Given the description of an element on the screen output the (x, y) to click on. 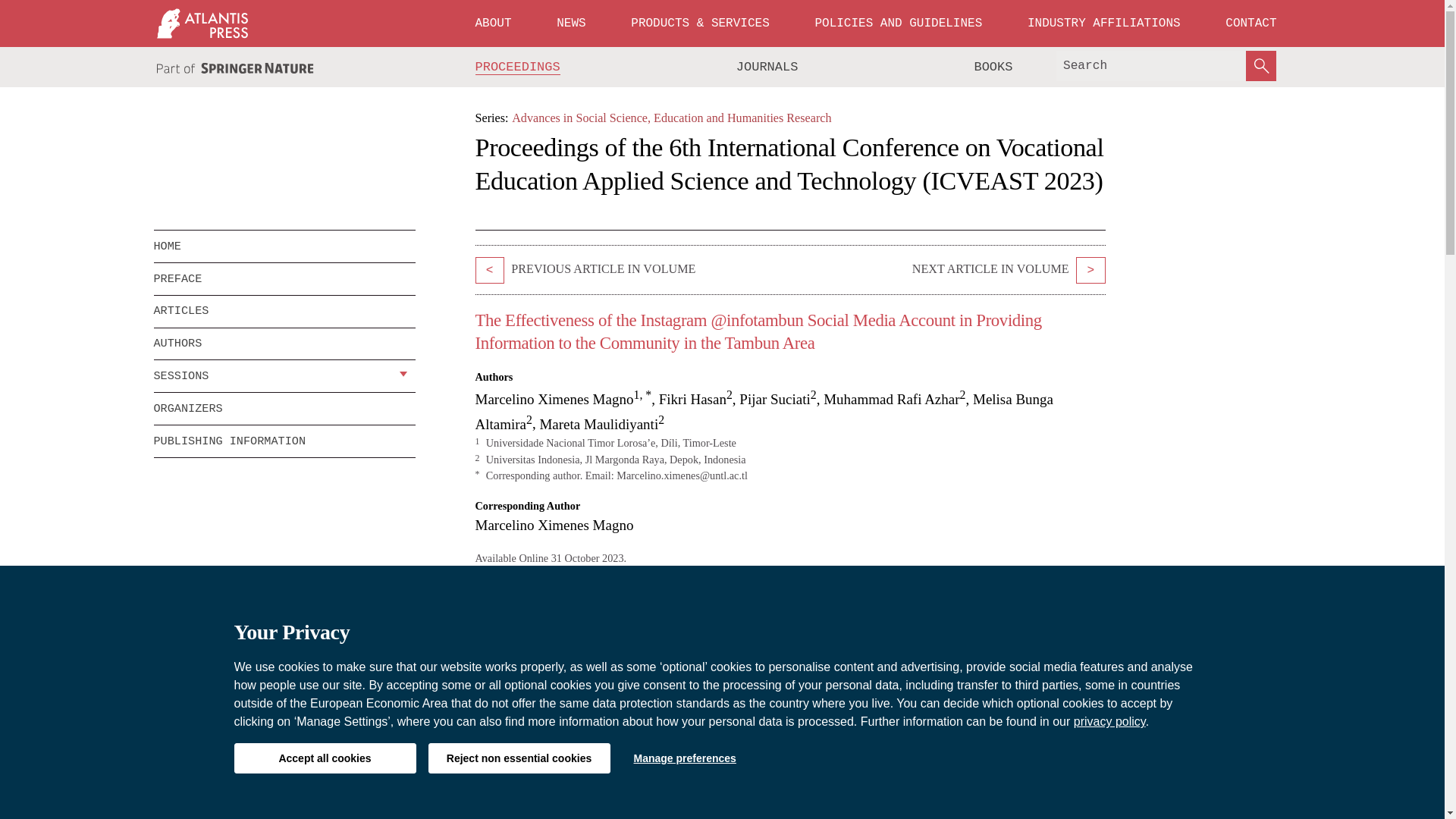
privacy policy (1109, 721)
PROCEEDINGS (518, 66)
AUTHORS (283, 344)
Manage preferences (683, 757)
Effective Social Marketing Strategies for Social Changes (1090, 270)
SESSIONS (273, 376)
Accept all cookies (323, 757)
Atlantis Press is Part of Springer Nature (234, 67)
BOOKS (992, 66)
PUBLISHING INFORMATION (283, 441)
ABOUT (493, 23)
JOURNALS (767, 66)
INDUSTRY AFFILIATIONS (1104, 23)
